Given the description of an element on the screen output the (x, y) to click on. 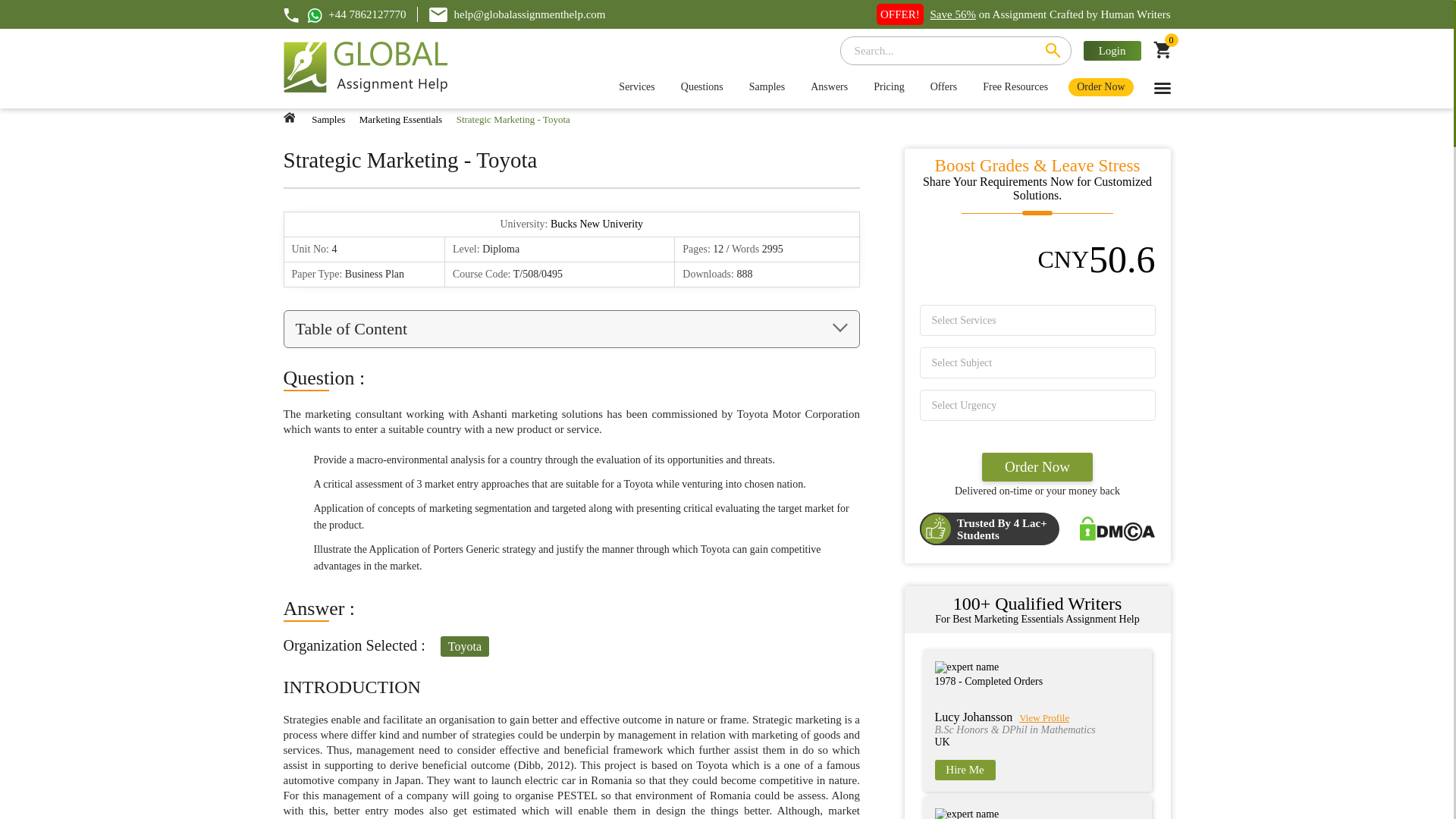
Home (289, 117)
Services (635, 86)
Global Assignment Help (364, 68)
Login (1112, 50)
0 (1161, 53)
